Given the description of an element on the screen output the (x, y) to click on. 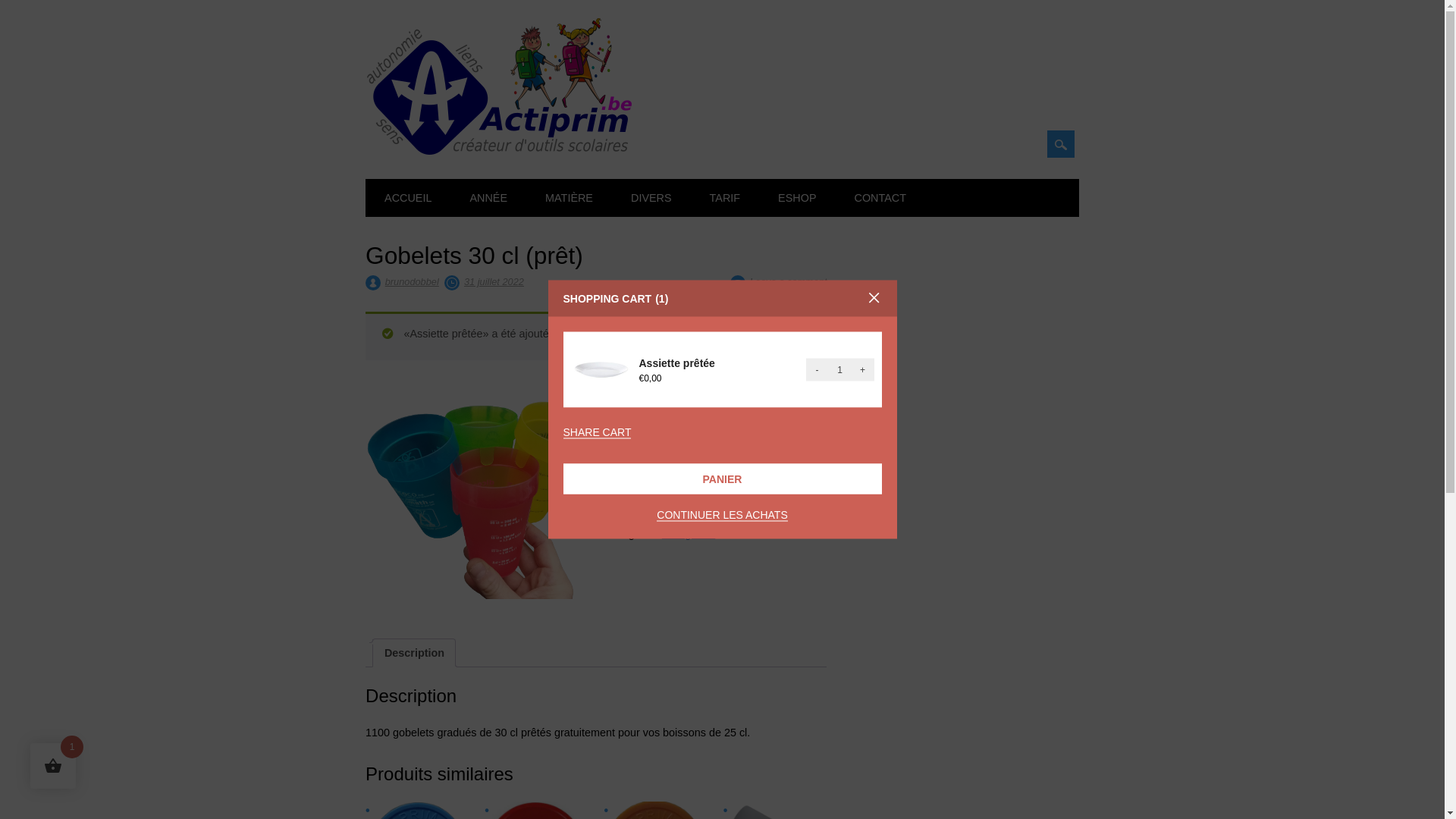
31 juillet 2022 Element type: text (494, 281)
Actiprim.be : outils scolaires Element type: hover (498, 150)
CONTACT Element type: text (879, 197)
Description Element type: text (414, 652)
gobelets-4couleurs-accroches-transparents Element type: hover (475, 495)
Voir le panier Element type: text (760, 336)
brunodobbel Element type: text (412, 281)
PANIER Element type: text (721, 479)
ACCUEIL Element type: text (407, 197)
TARIF Element type: text (724, 197)
DIVERS Element type: text (650, 197)
Ajouter au panier Element type: text (703, 467)
ESHOP Element type: text (796, 197)
Leave a comment Element type: text (788, 281)
